Given the description of an element on the screen output the (x, y) to click on. 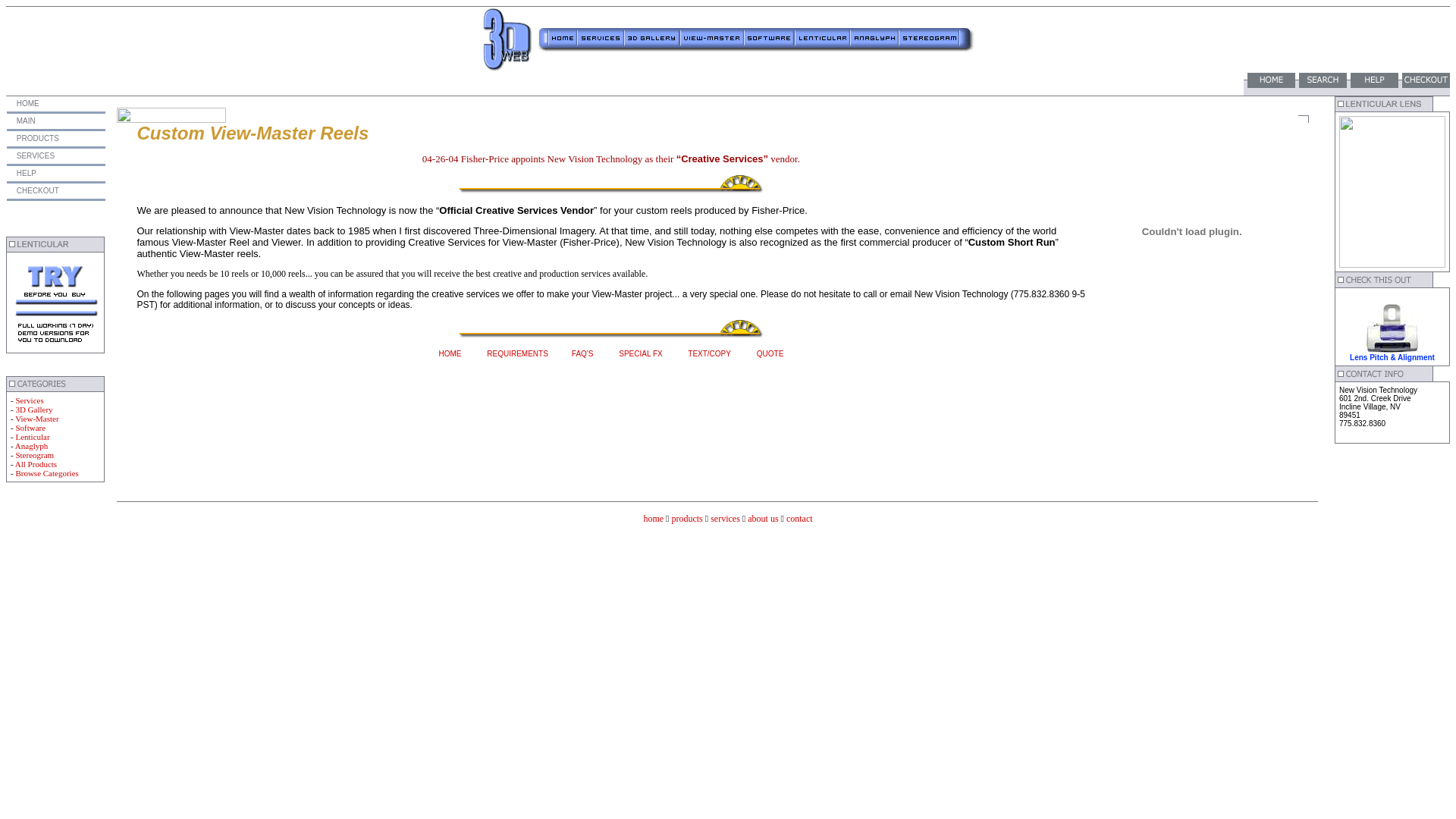
3D Gallery Element type: text (33, 409)
Services Element type: text (29, 399)
home Element type: text (653, 518)
QUOTE Element type: text (770, 353)
SPECIAL FX Element type: text (640, 353)
FAQ'S Element type: text (582, 353)
HOME Element type: text (450, 353)
Lens Pitch & Alignment Element type: text (1391, 357)
PRODUCTS Element type: text (36, 138)
SERVICES Element type: text (34, 155)
Software Element type: text (30, 427)
contact Element type: text (799, 518)
Lenticular Element type: text (32, 436)
REQUIREMENTS Element type: text (517, 353)
products Element type: text (686, 518)
HELP Element type: text (25, 173)
TEXT/COPY Element type: text (709, 353)
All Products Element type: text (35, 463)
HOME Element type: text (26, 103)
Anaglyph Element type: text (31, 445)
CHECKOUT Element type: text (36, 190)
View-Master Element type: text (36, 418)
Browse Categories Element type: text (46, 472)
about us Element type: text (762, 518)
MAIN Element type: text (24, 120)
services Element type: text (725, 518)
Stereogram Element type: text (34, 454)
